Given the description of an element on the screen output the (x, y) to click on. 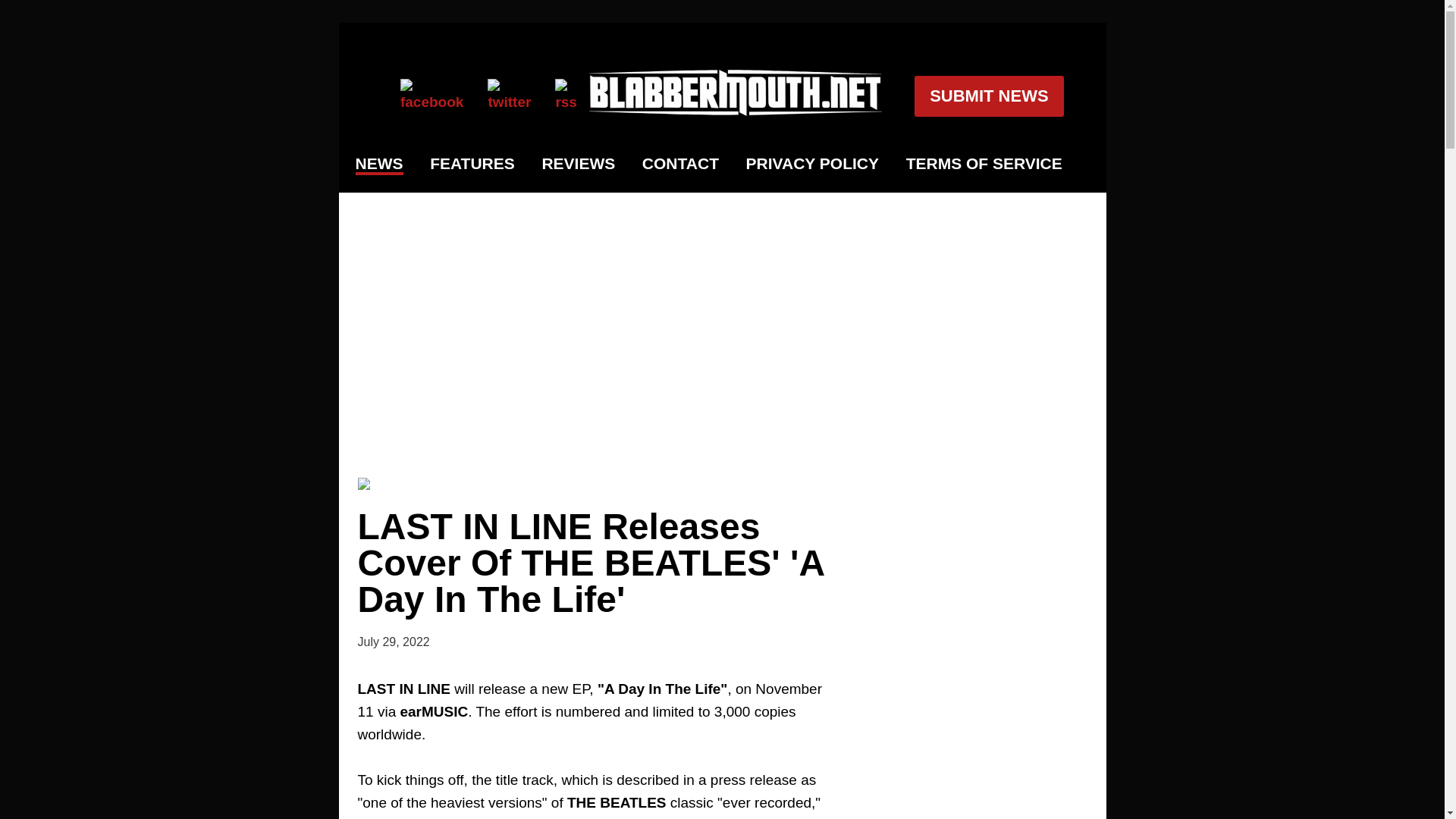
CONTACT (680, 163)
SUBMIT NEWS (988, 96)
blabbermouth (735, 110)
PRIVACY POLICY (812, 163)
FEATURES (472, 163)
NEWS (379, 164)
TERMS OF SERVICE (983, 163)
REVIEWS (577, 163)
